Given the description of an element on the screen output the (x, y) to click on. 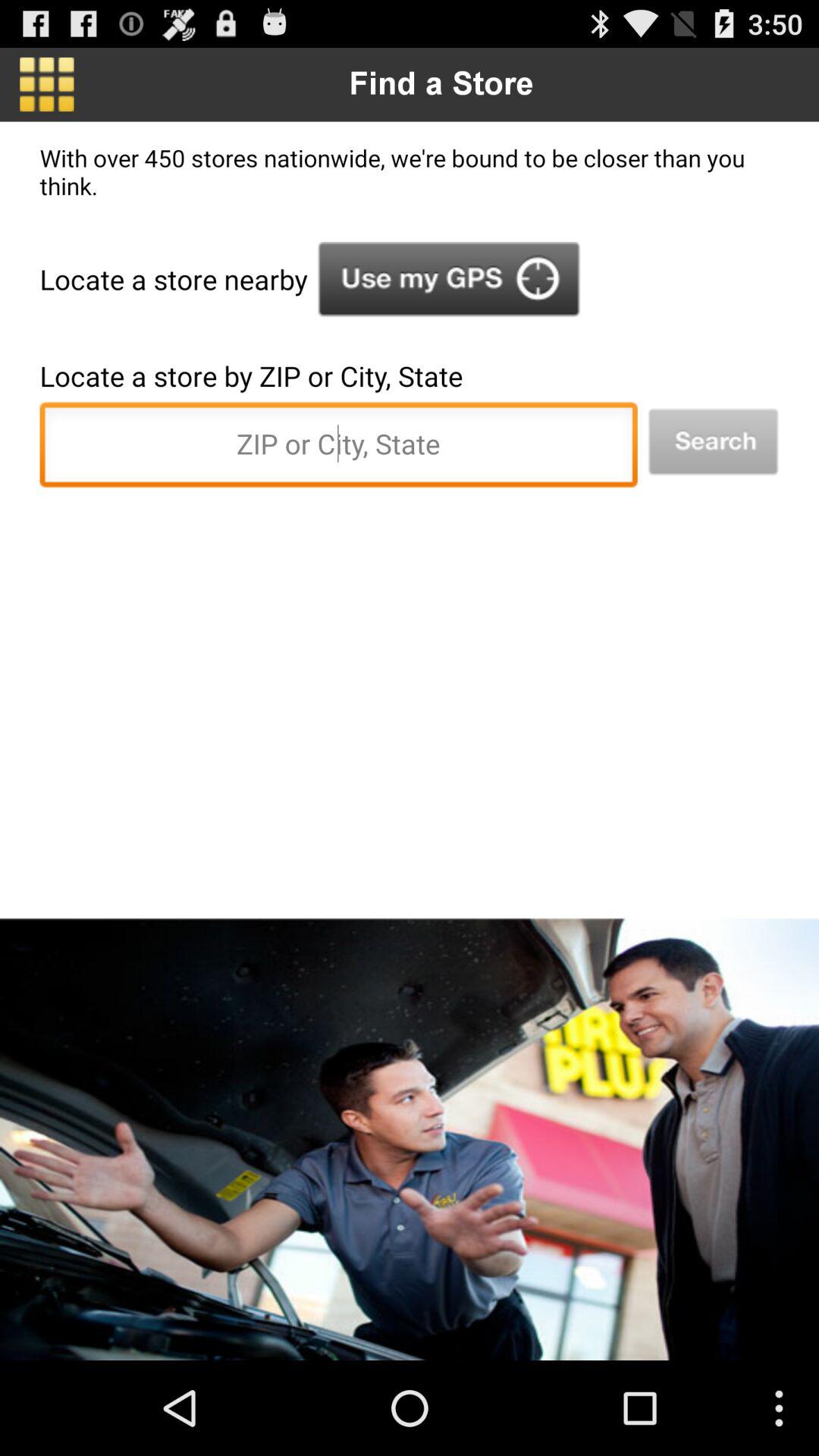
turn on item next to the find a store app (46, 84)
